Given the description of an element on the screen output the (x, y) to click on. 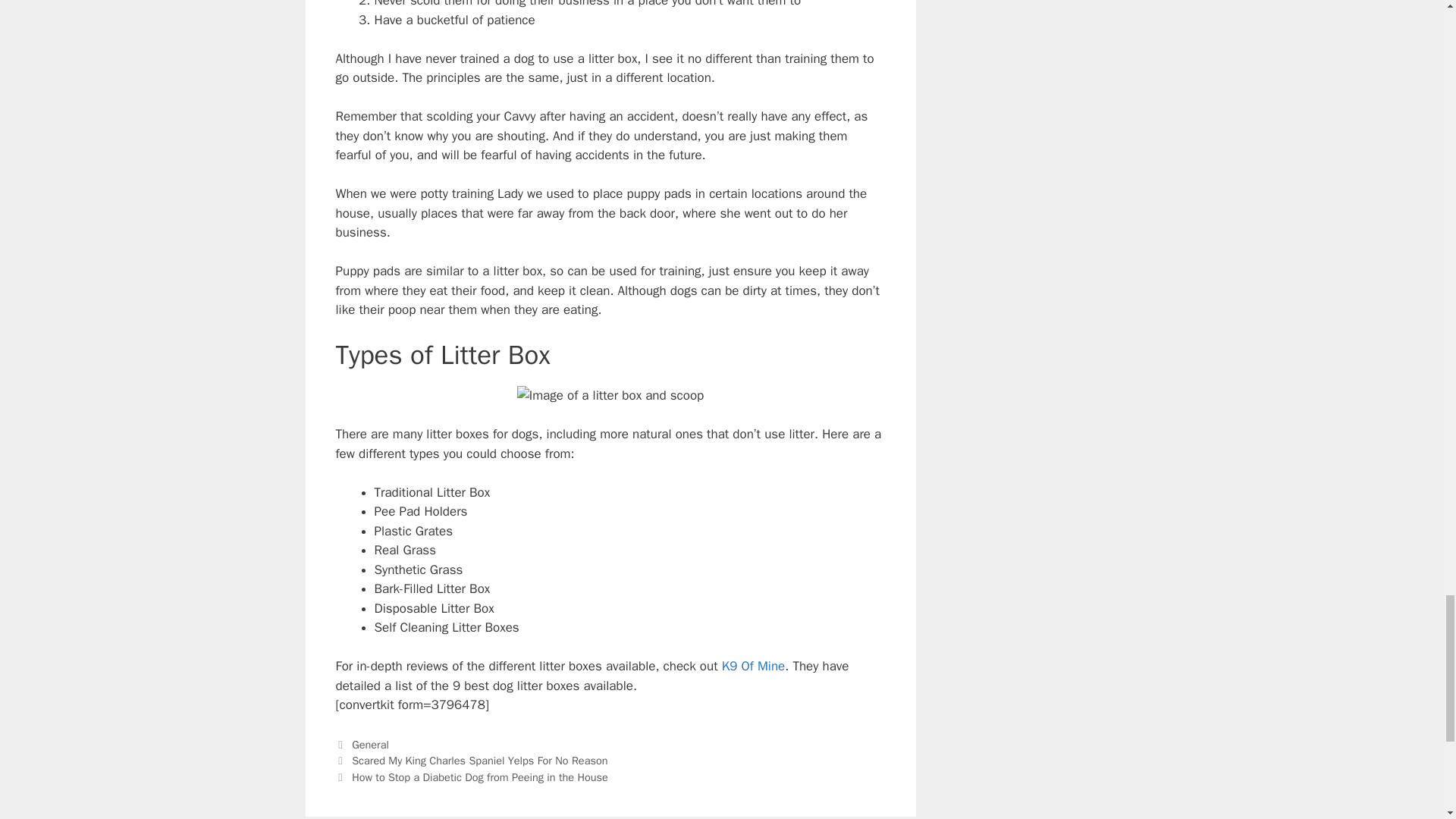
K9 Of Mine (754, 666)
Scared My King Charles Spaniel Yelps For No Reason (479, 760)
General (370, 744)
How to Stop a Diabetic Dog from Peeing in the House (480, 776)
